Given the description of an element on the screen output the (x, y) to click on. 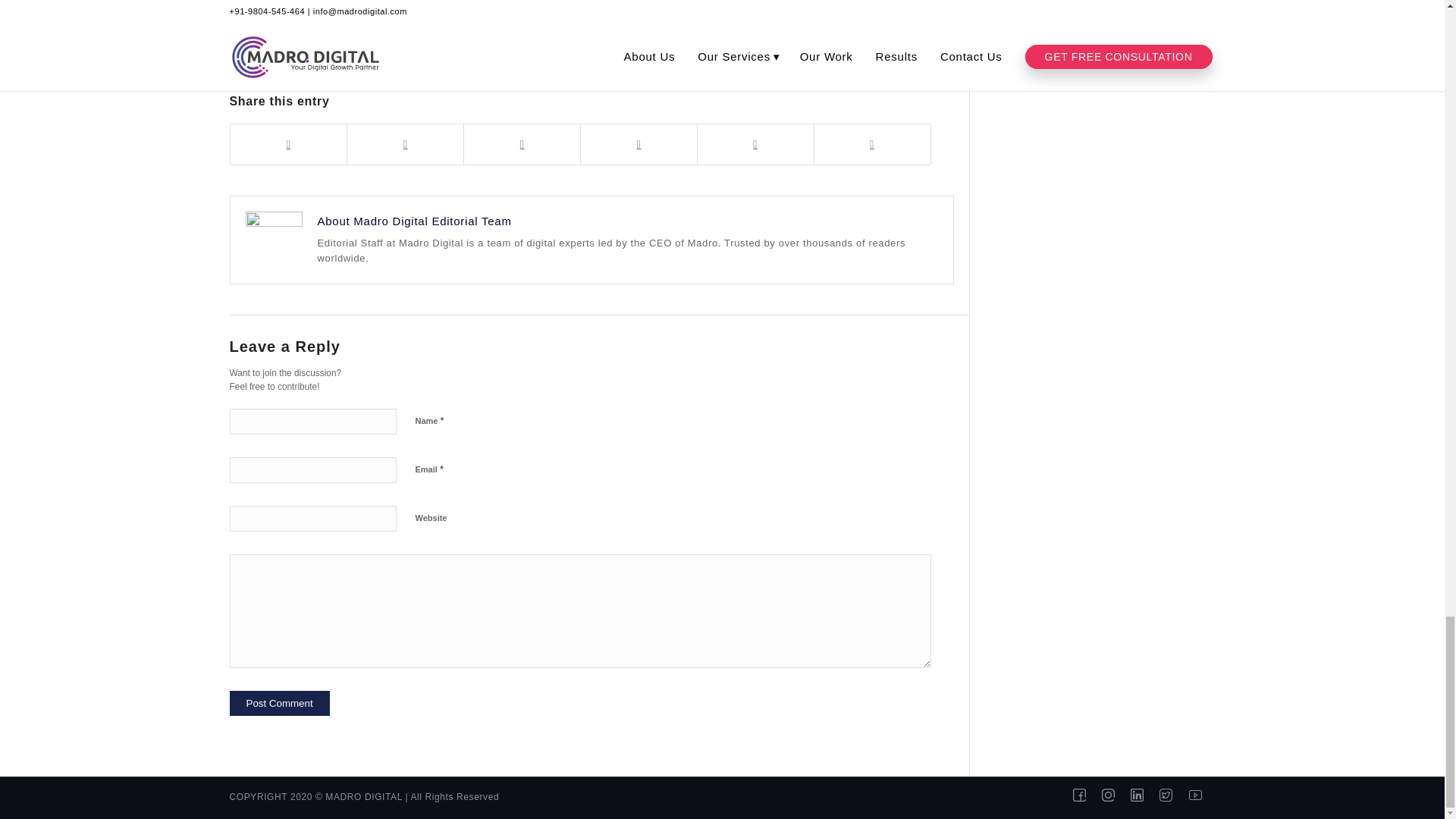
Linkedin (1144, 794)
Instagram (1115, 794)
YouTube (1202, 794)
Facebook (1086, 794)
Twitter (1172, 794)
Post Comment (278, 703)
